Given the description of an element on the screen output the (x, y) to click on. 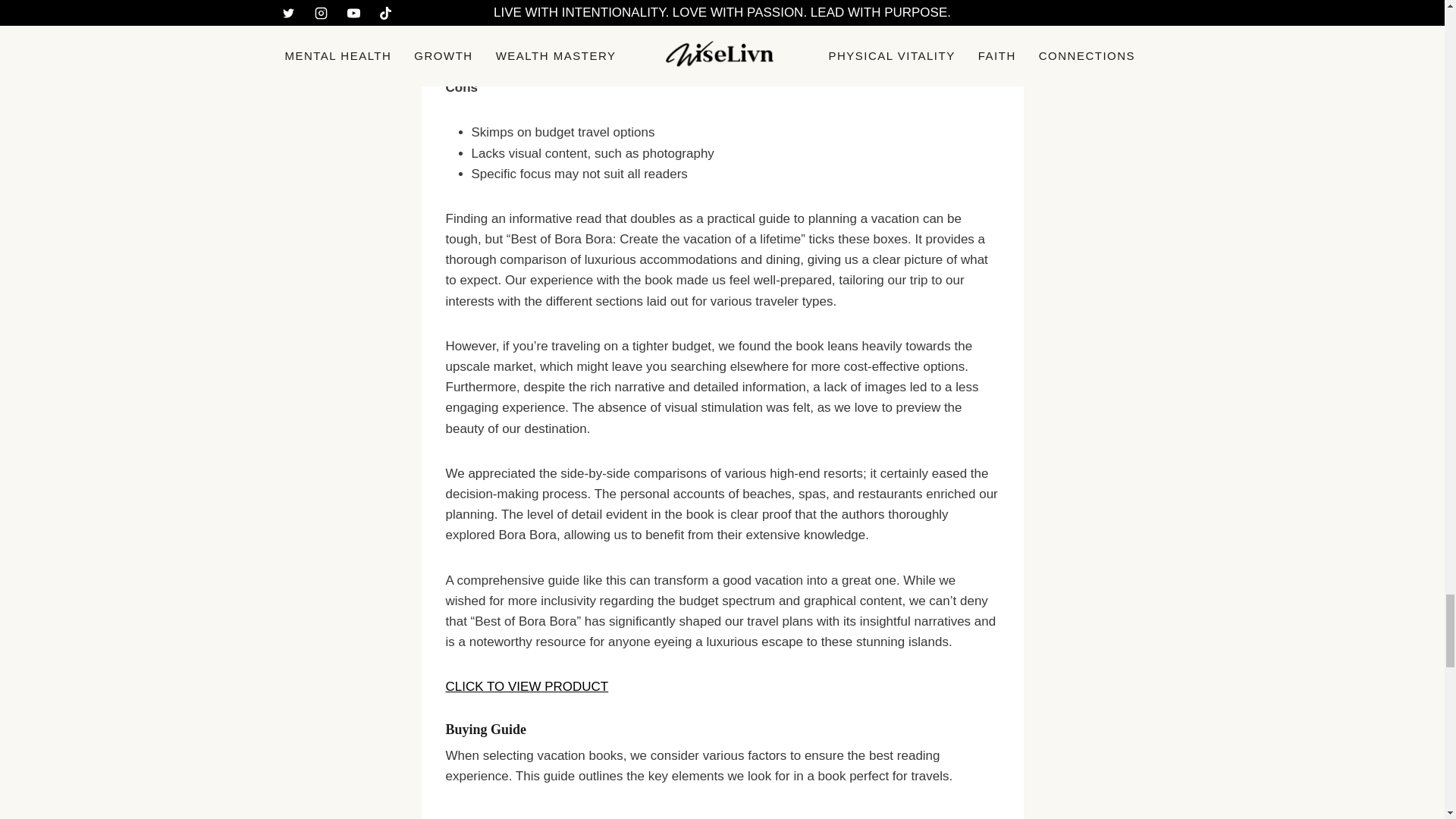
CLICK TO VIEW PRODUCT (526, 686)
